Given the description of an element on the screen output the (x, y) to click on. 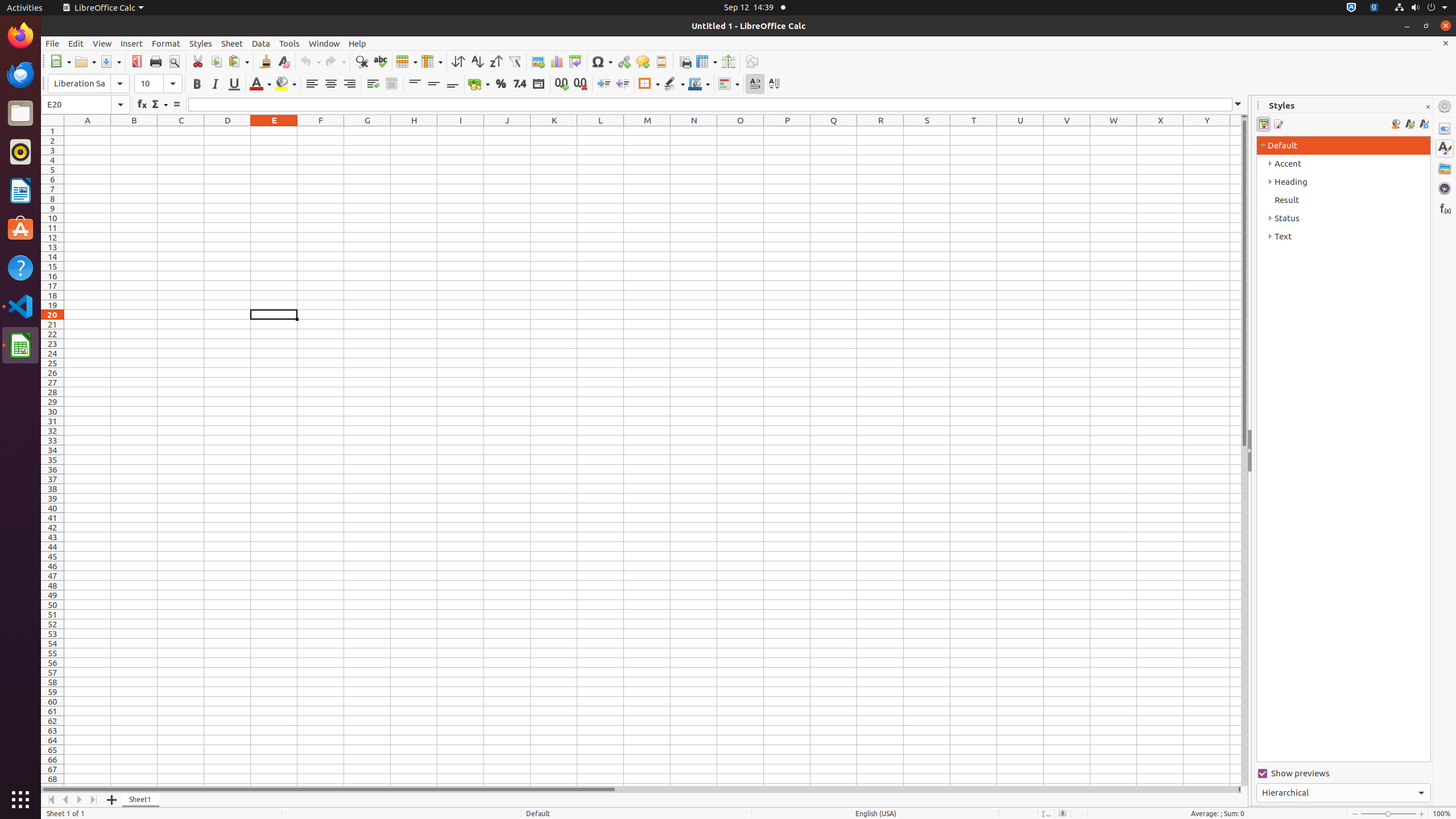
O1 Element type: table-cell (740, 130)
Styles Element type: radio-button (1444, 148)
Column Element type: push-button (431, 61)
Freeze Rows and Columns Element type: push-button (705, 61)
Clear Element type: push-button (283, 61)
